Given the description of an element on the screen output the (x, y) to click on. 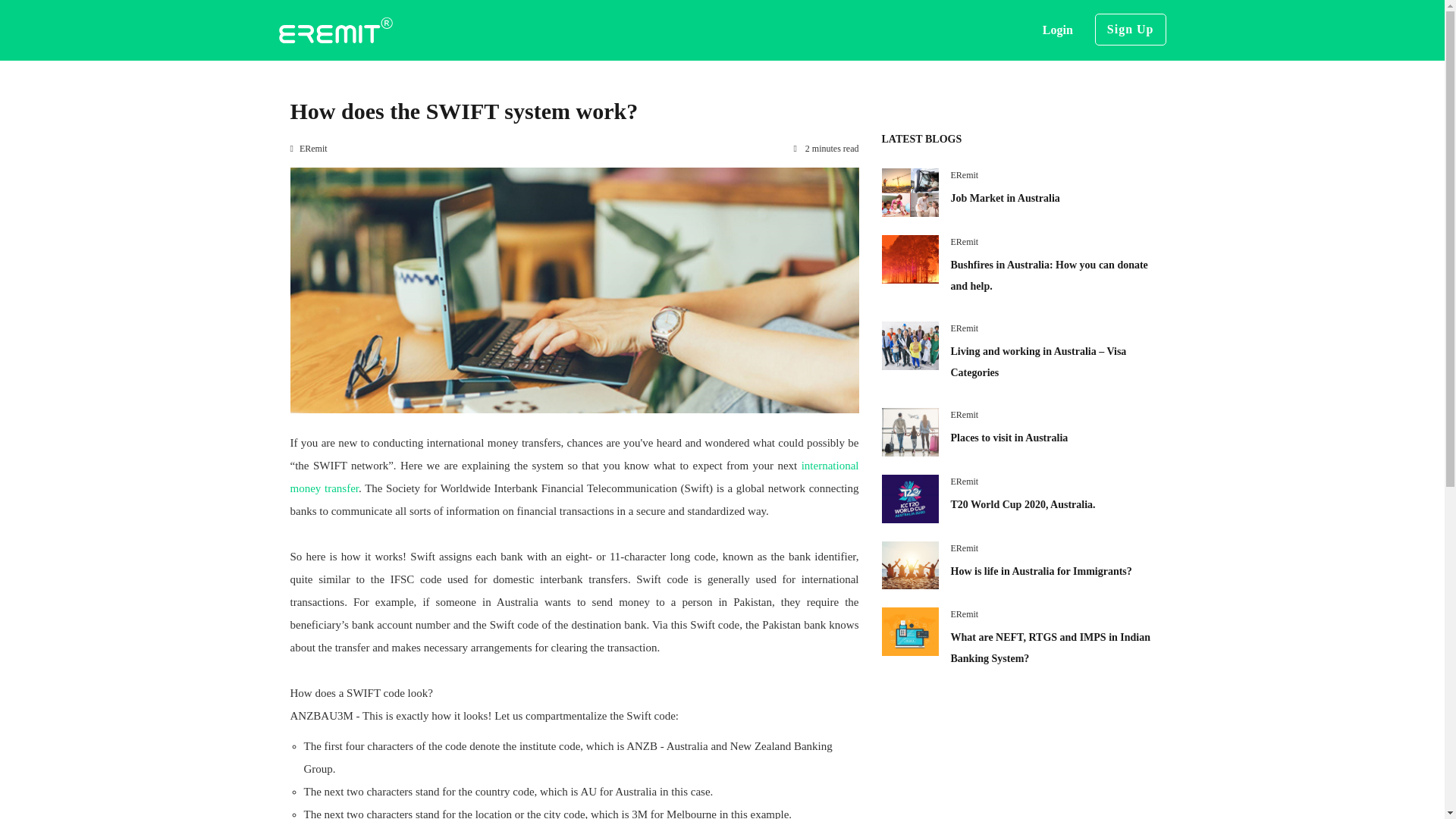
What are NEFT, RTGS and IMPS in Indian Banking System? (1050, 647)
Sign Up (1130, 29)
international money transfer (574, 476)
Job Market in Australia (1004, 197)
Login (1057, 29)
How is life in Australia for Immigrants? (1041, 571)
Bushfires in Australia: How you can donate and help. (1049, 275)
T20 World Cup 2020, Australia. (1023, 504)
Places to visit in Australia (1009, 437)
